Given the description of an element on the screen output the (x, y) to click on. 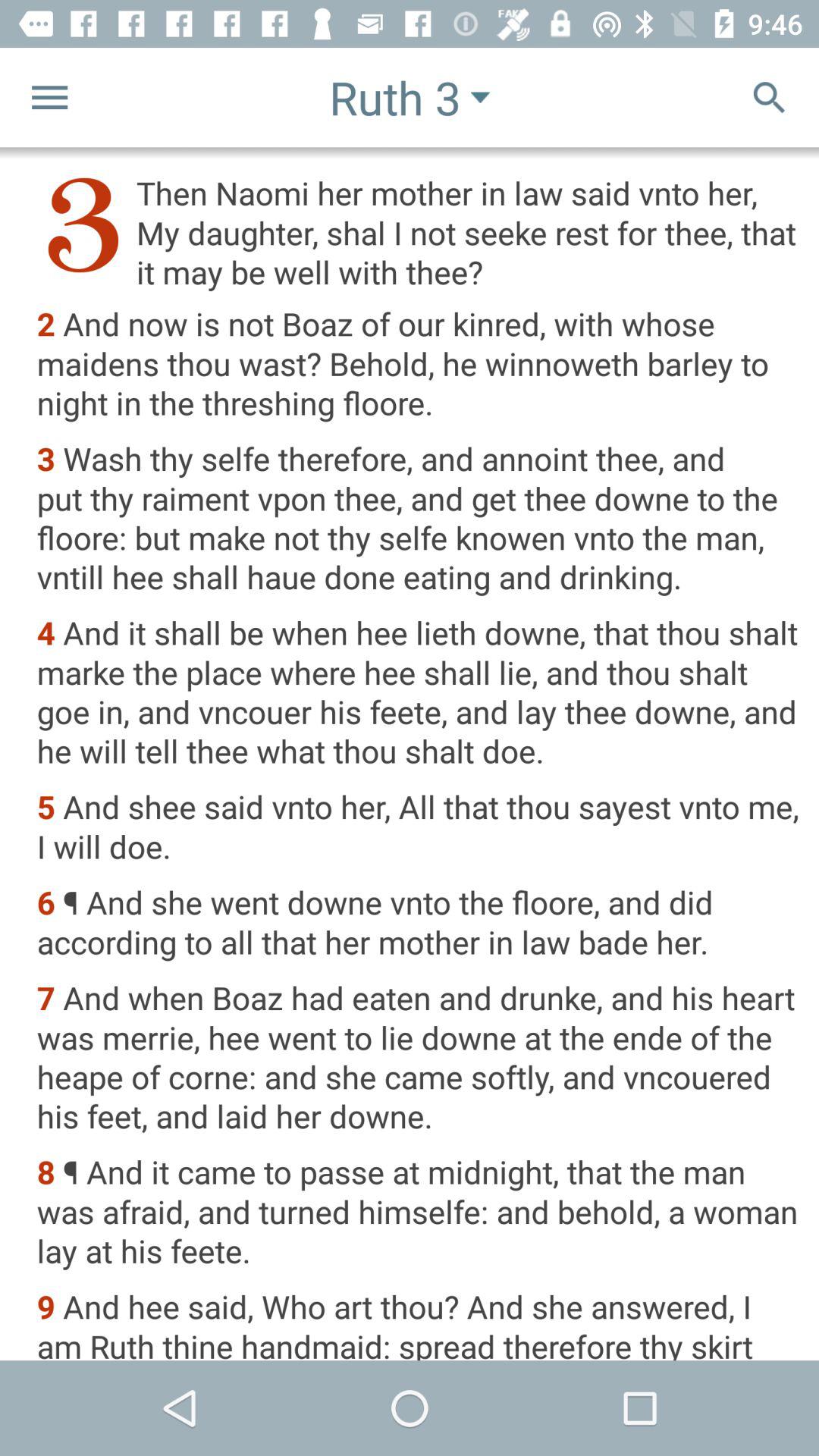
press icon above the 3 wash thy item (417, 365)
